Given the description of an element on the screen output the (x, y) to click on. 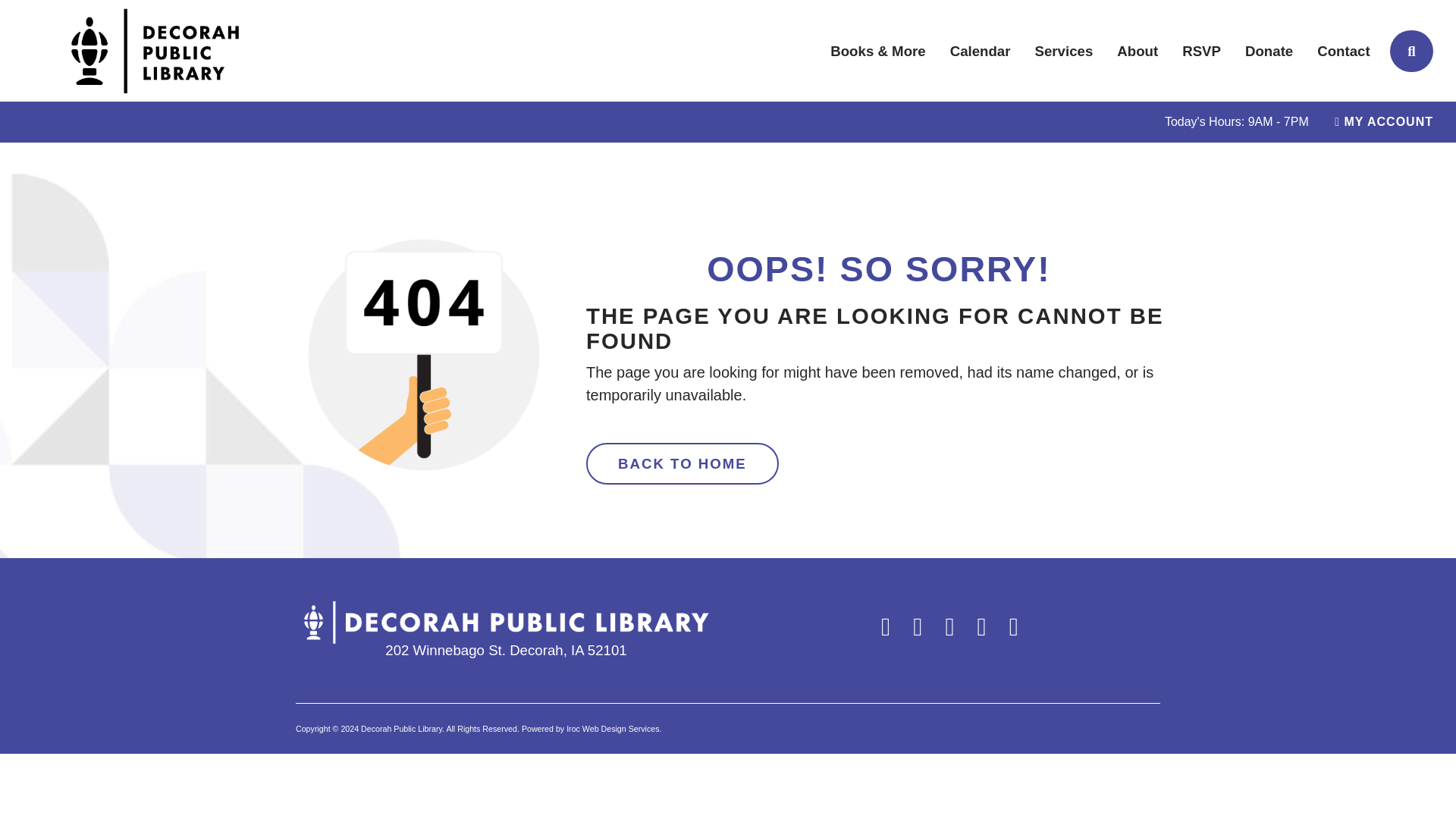
Iroc Web Design Services (612, 728)
RSVP (1201, 51)
404 Graphic (423, 354)
About (1137, 51)
Services (1064, 51)
Calendar (980, 51)
Donate (1268, 51)
Decorah Public Library Logo (505, 621)
Header Logo (154, 50)
Contact (1342, 51)
